Given the description of an element on the screen output the (x, y) to click on. 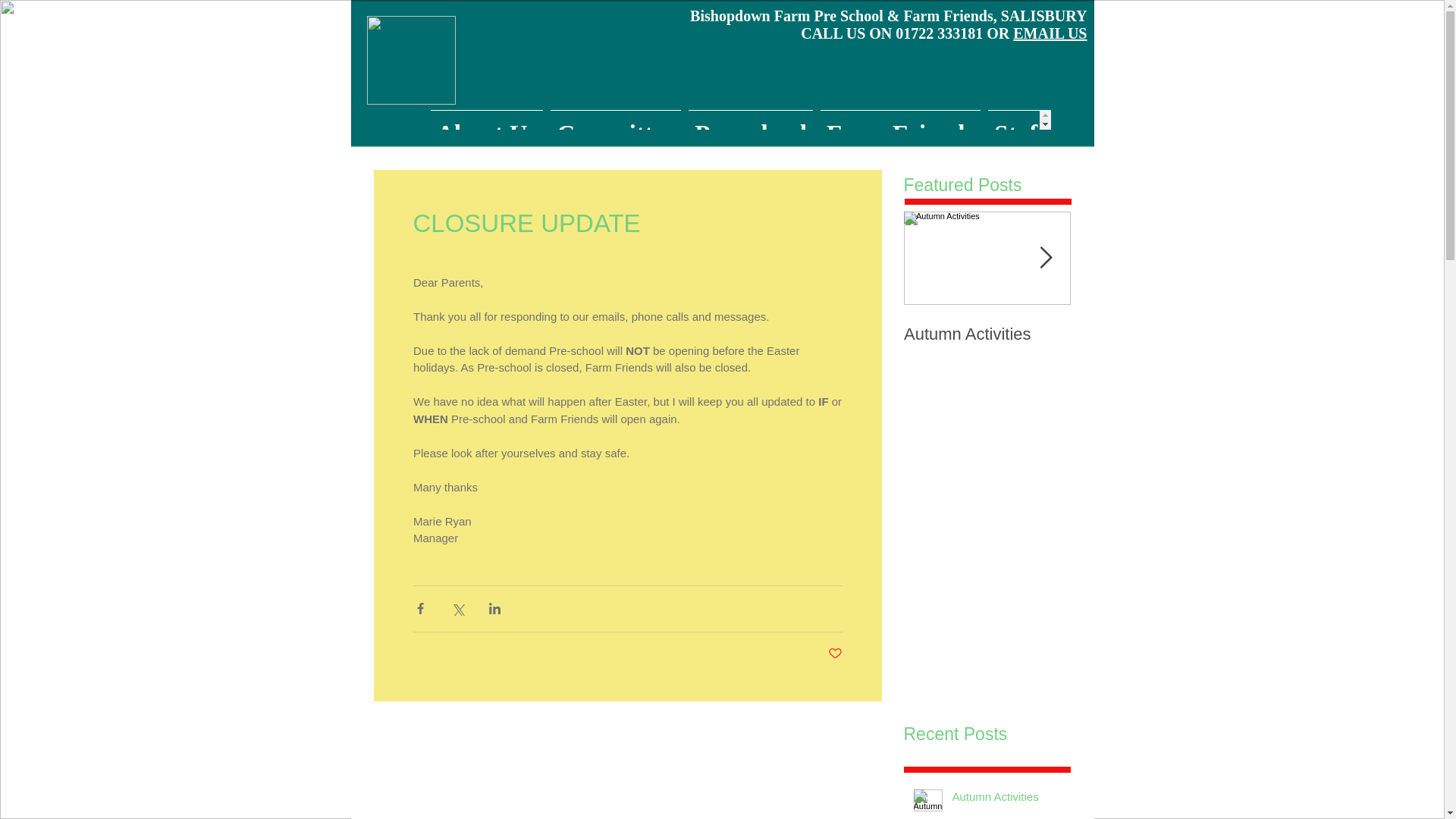
Pre-school (750, 119)
Woodborough CE Primary School Fire (1153, 343)
Post not marked as liked (835, 653)
Autumn Activities (987, 333)
About Us (486, 119)
Committee (615, 119)
Farm Friends (900, 119)
Staff (1019, 119)
EMAIL US (1049, 33)
Autumn Activities (1006, 799)
